Given the description of an element on the screen output the (x, y) to click on. 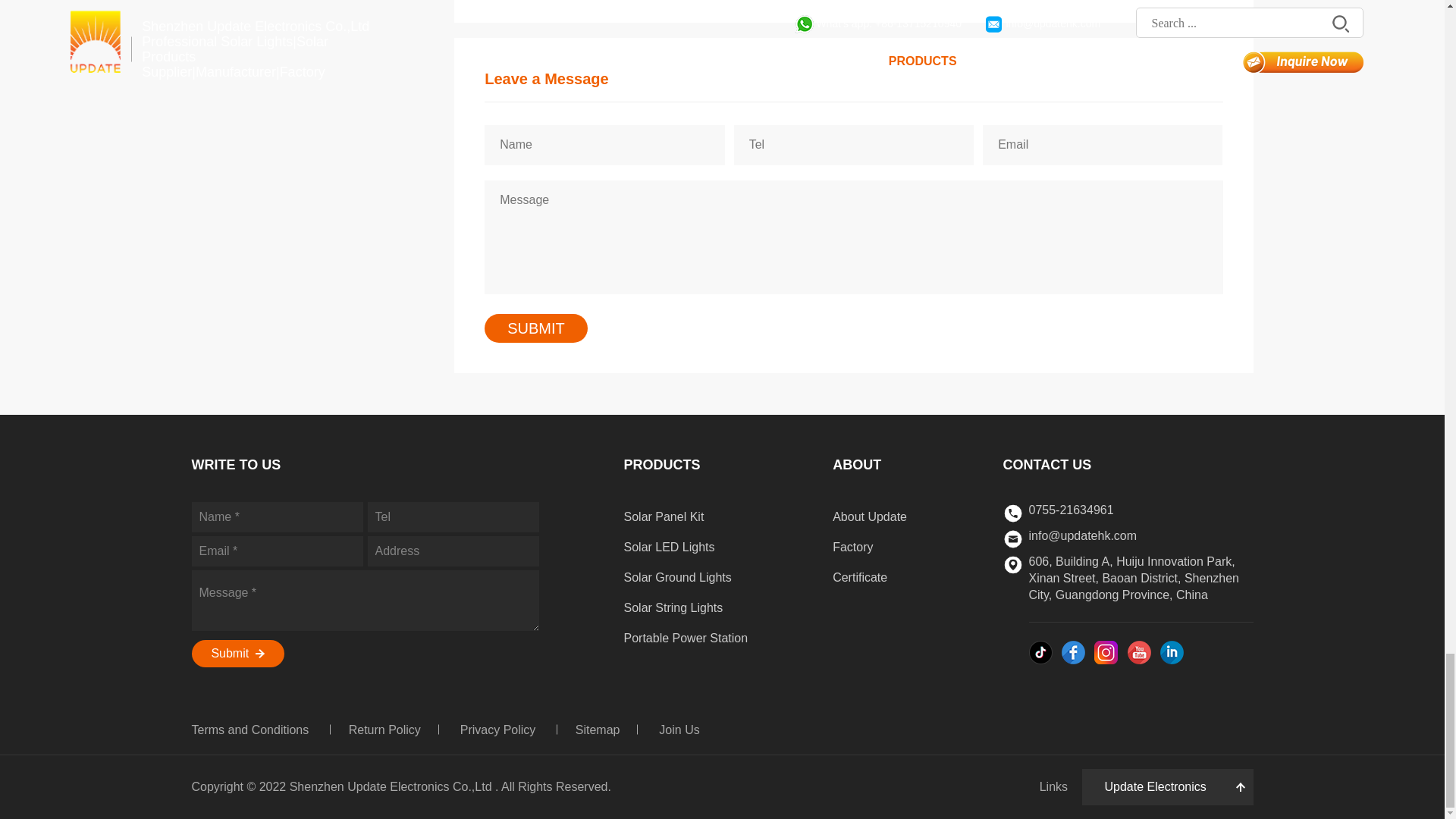
SUBMIT (536, 328)
SUBMIT (536, 328)
